Given the description of an element on the screen output the (x, y) to click on. 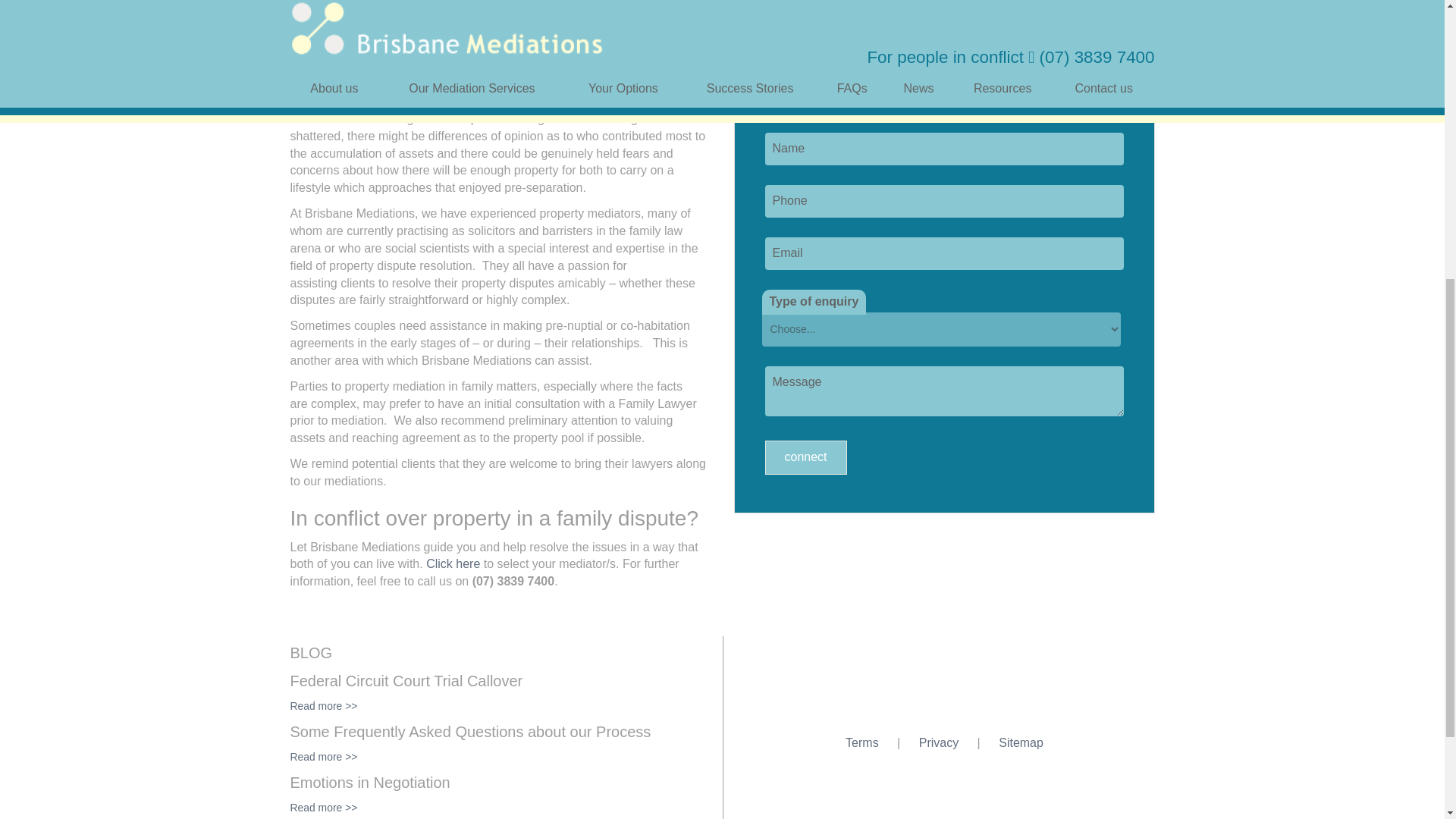
Click here (453, 563)
connect (804, 457)
Federal Circuit Court Trial Callover (405, 680)
Some Frequently Asked Questions about our Process (469, 731)
Emotions in Negotiation (369, 782)
